Given the description of an element on the screen output the (x, y) to click on. 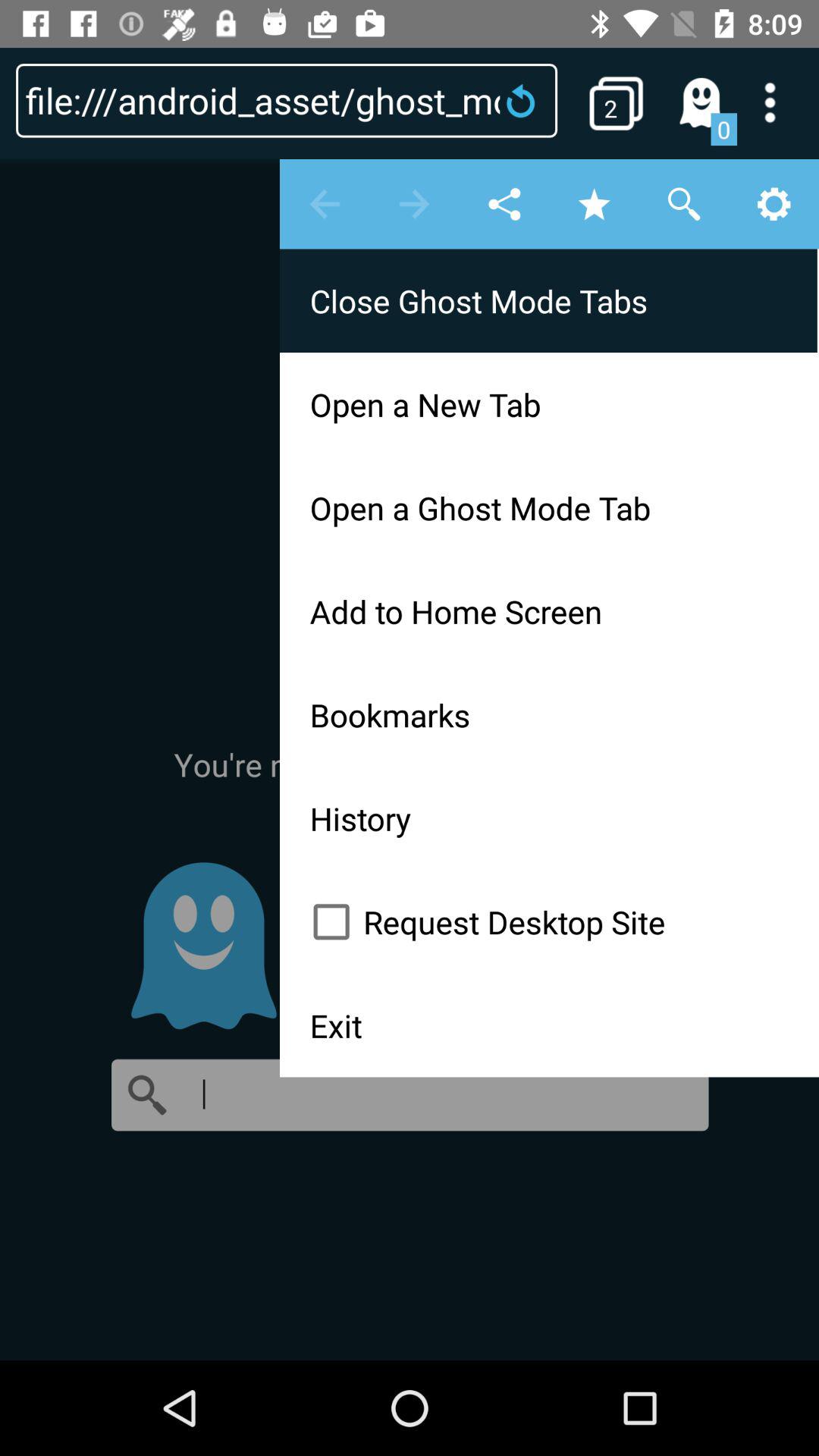
choose item below 0 (409, 758)
